Given the description of an element on the screen output the (x, y) to click on. 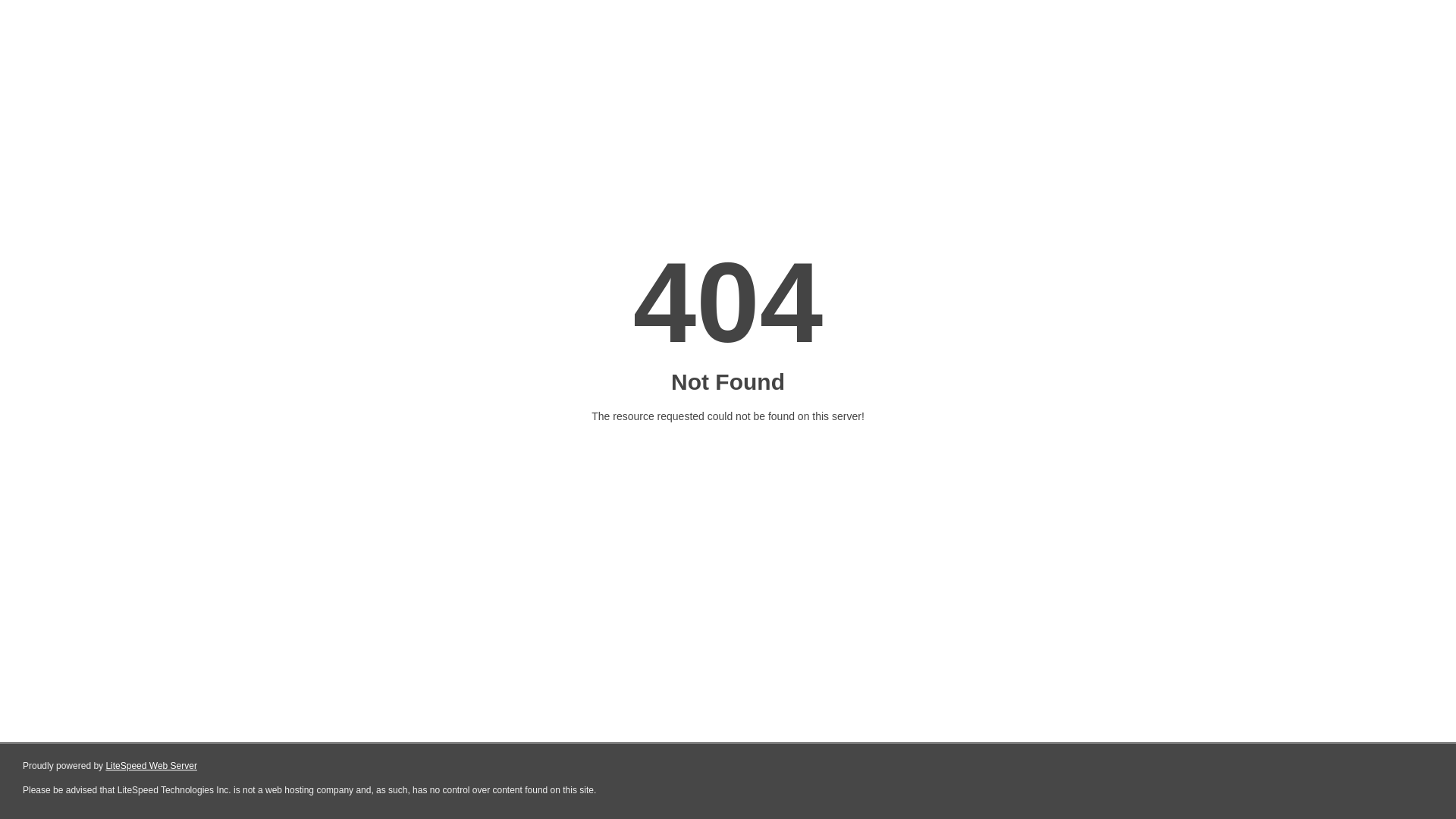
LiteSpeed Web Server Element type: text (151, 765)
